Given the description of an element on the screen output the (x, y) to click on. 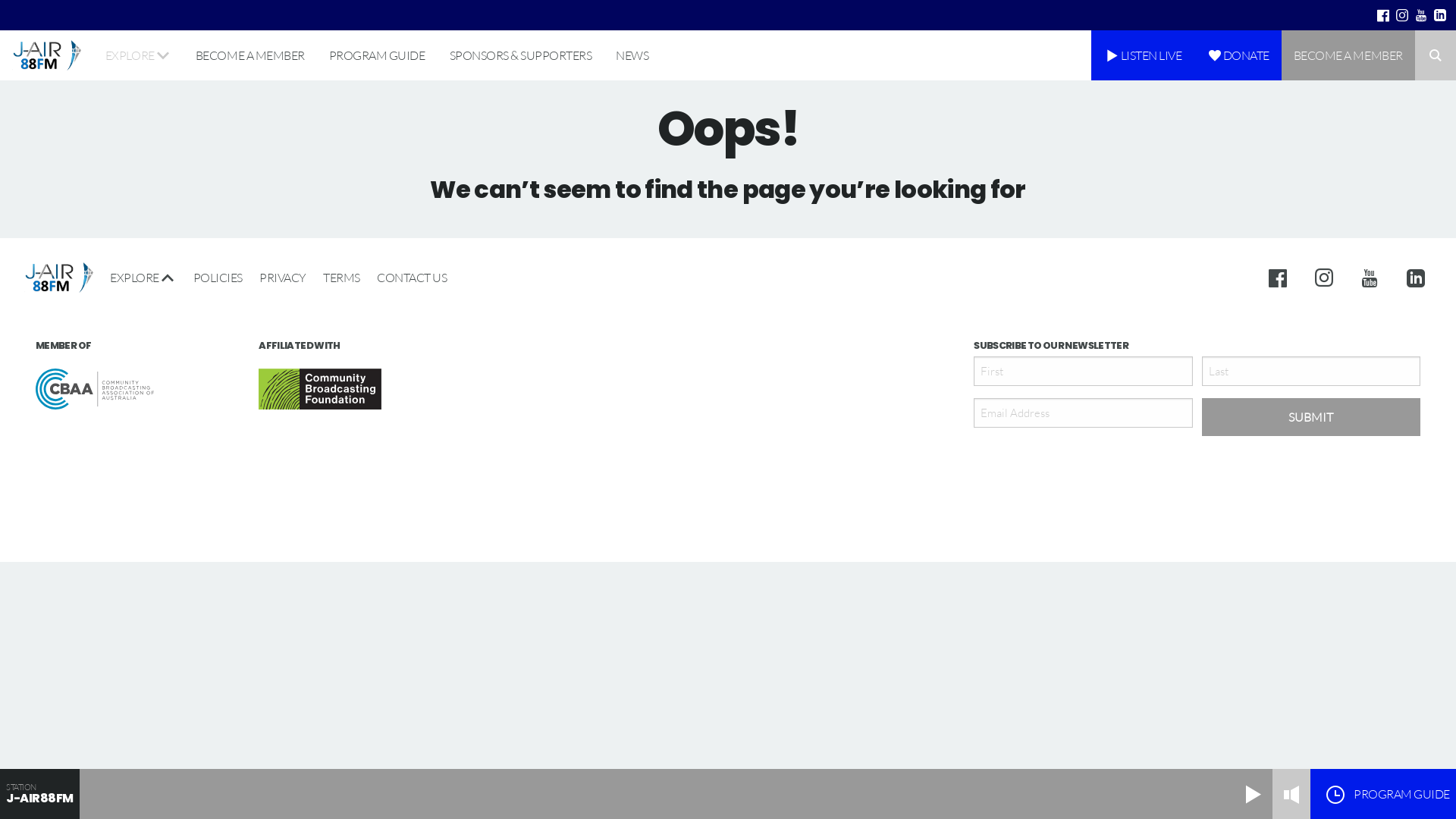
NEWS Element type: text (631, 55)
  Element type: text (1383, 14)
BECOME A MEMBER Element type: text (249, 55)
PRIVACY Element type: text (282, 277)
BECOME A MEMBER Element type: text (1348, 55)
PROGRAM GUIDE Element type: text (376, 55)
Submit Element type: text (1310, 417)
TERMS Element type: text (341, 277)
DONATE Element type: text (1237, 55)
SPONSORS & SUPPORTERS Element type: text (519, 55)
POLICIES Element type: text (217, 277)
CONTACT US Element type: text (407, 277)
  Element type: text (1439, 14)
  Element type: text (1402, 14)
EXPLORE Element type: text (142, 277)
EXPLORE Element type: text (138, 55)
  Element type: text (1283, 277)
LISTEN LIVE Element type: text (1142, 55)
  Element type: text (1412, 277)
  Element type: text (1371, 277)
  Element type: text (1325, 277)
  Element type: text (1421, 14)
